Given the description of an element on the screen output the (x, y) to click on. 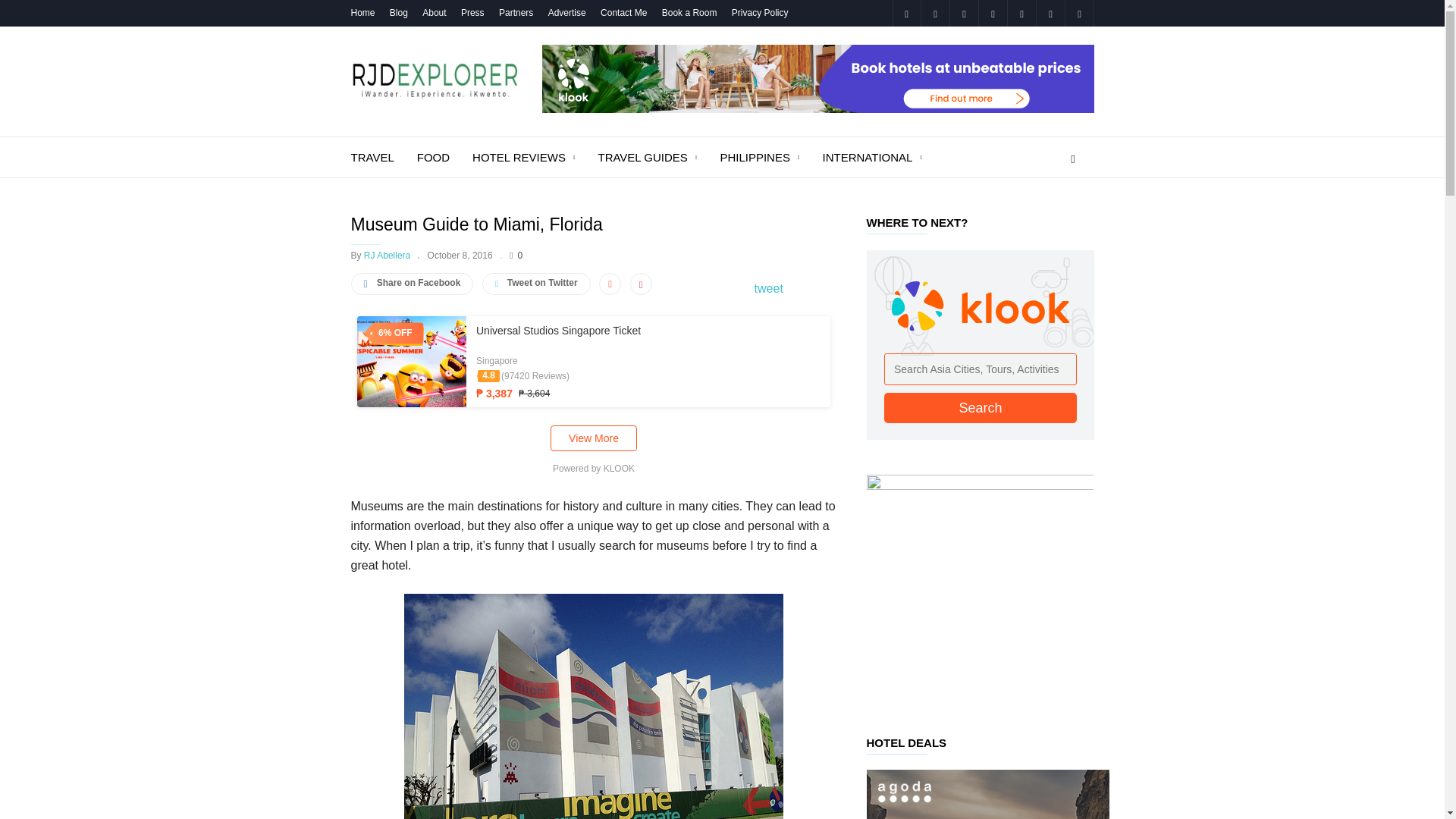
Vimeo (1049, 13)
Facebook (905, 13)
Youtube (1078, 13)
Instagram (934, 13)
Twitter (1021, 13)
Mail (963, 13)
Pinterest (992, 13)
